Given the description of an element on the screen output the (x, y) to click on. 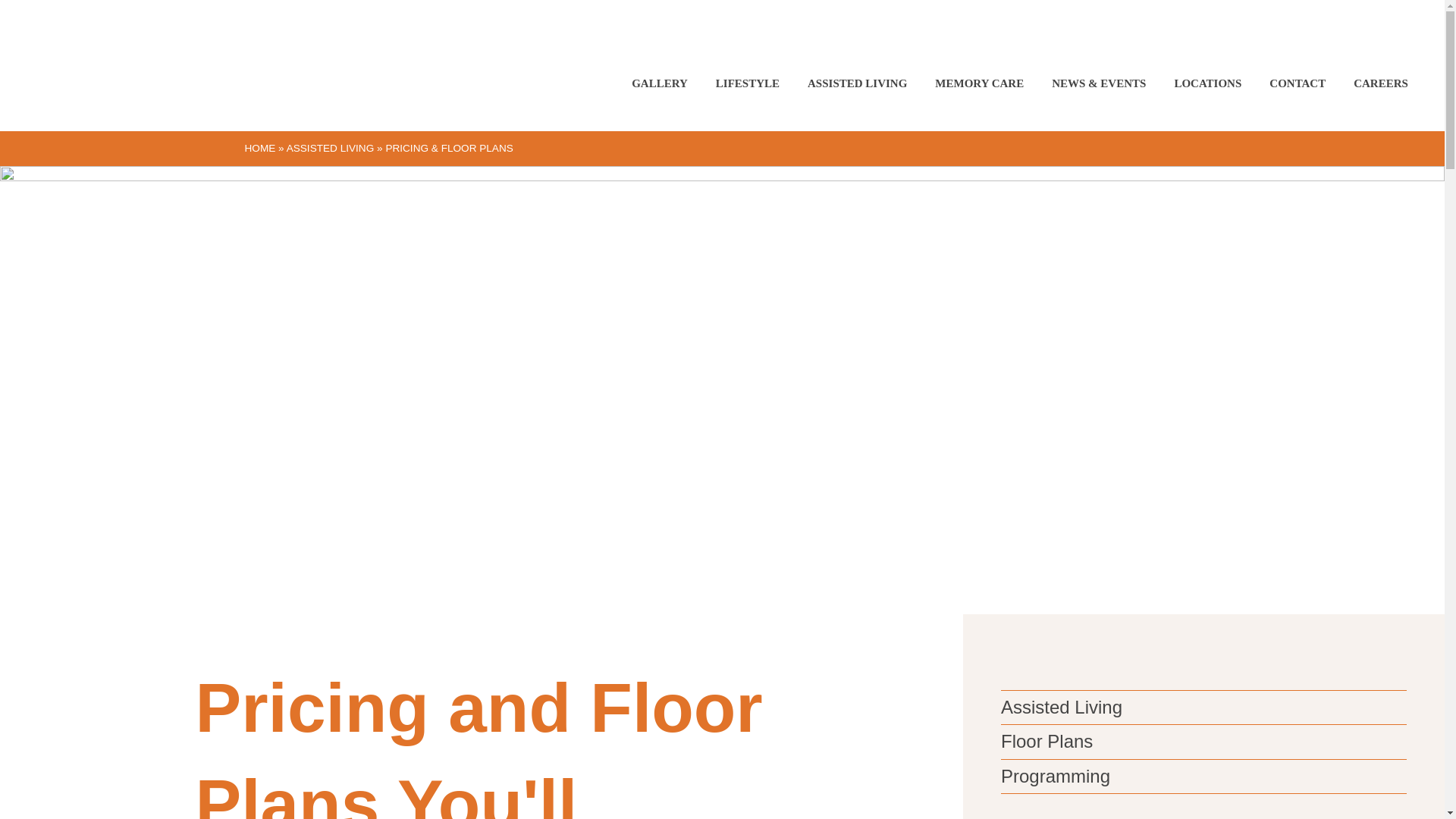
CONTACT (1297, 82)
HOME (259, 147)
ASSISTED LIVING (856, 82)
MEMORY CARE (978, 82)
Assisted Living (1061, 706)
CAREERS (1380, 82)
ASSISTED LIVING (330, 147)
GALLERY (659, 82)
LIFESTYLE (747, 82)
LOCATIONS (1207, 82)
